Given the description of an element on the screen output the (x, y) to click on. 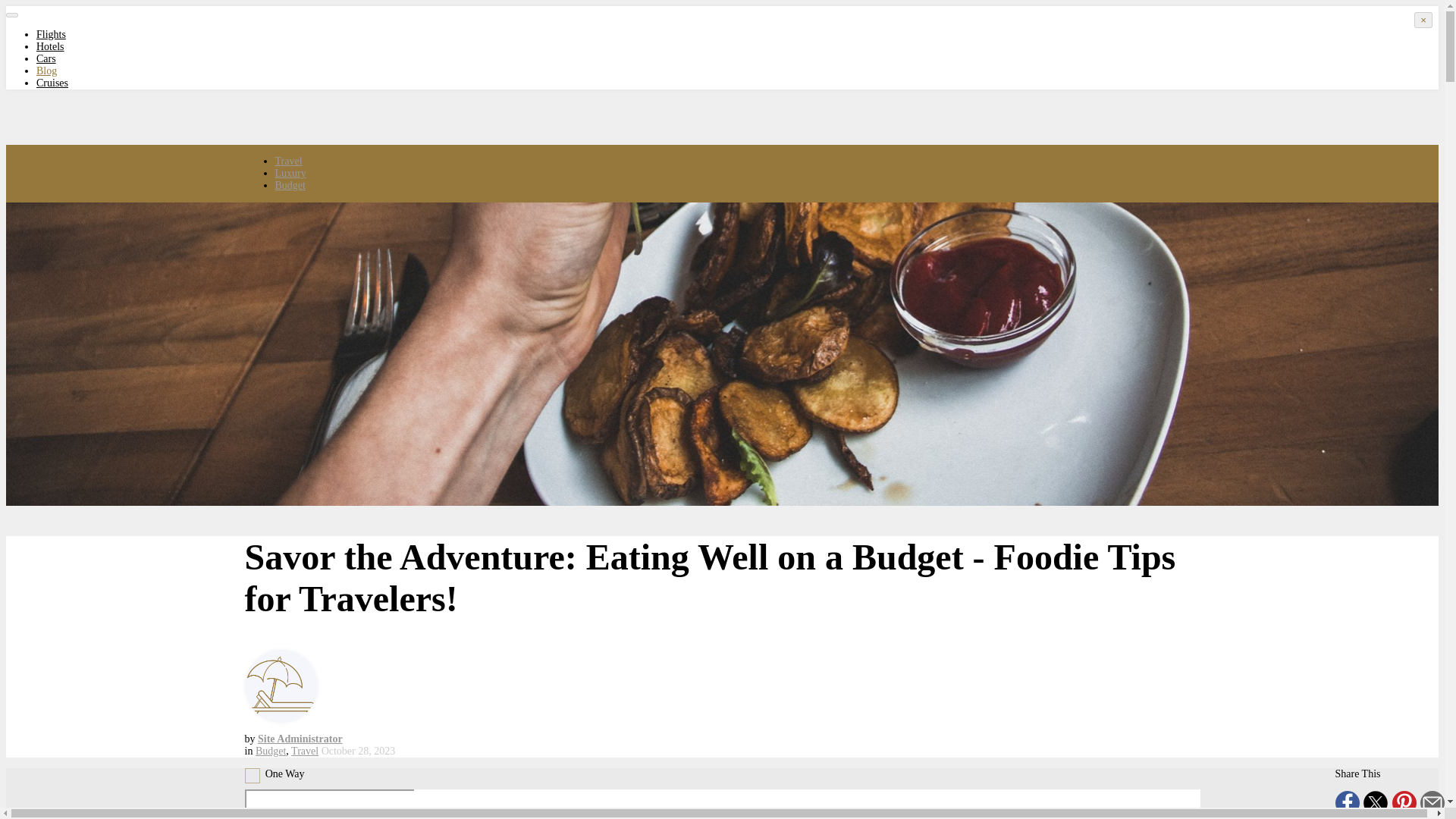
Hotels (50, 46)
Pin it (1403, 811)
Cars (46, 58)
Blog (46, 70)
Travel (304, 750)
Share on Twitter (1374, 811)
Site Administrator (299, 738)
Budget (289, 184)
Flights (50, 34)
Travel (288, 161)
Budget (270, 750)
Share on Facebook (1346, 811)
Cruises (52, 82)
Luxury (290, 173)
